Given the description of an element on the screen output the (x, y) to click on. 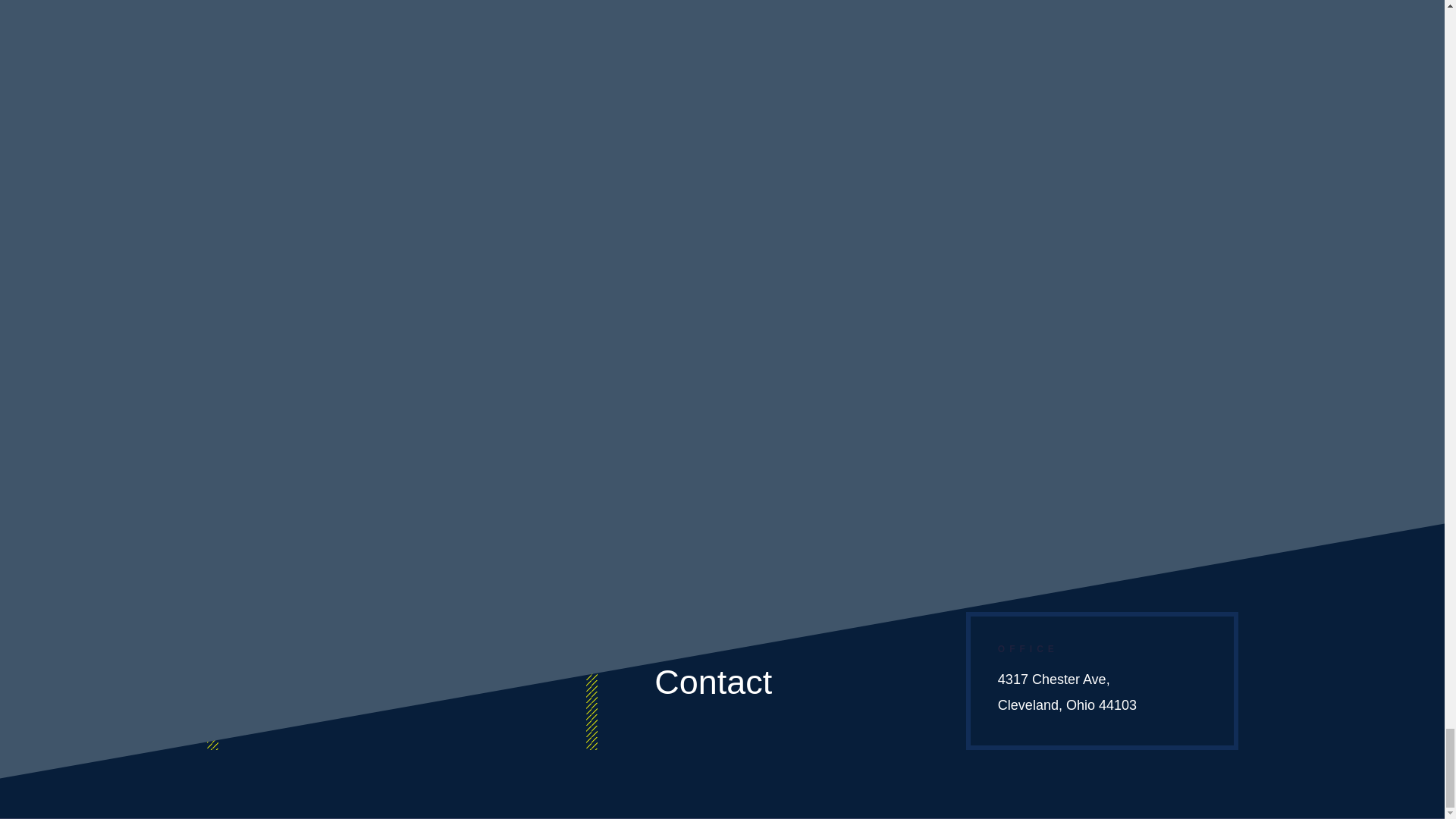
Submit (1179, 195)
